Given the description of an element on the screen output the (x, y) to click on. 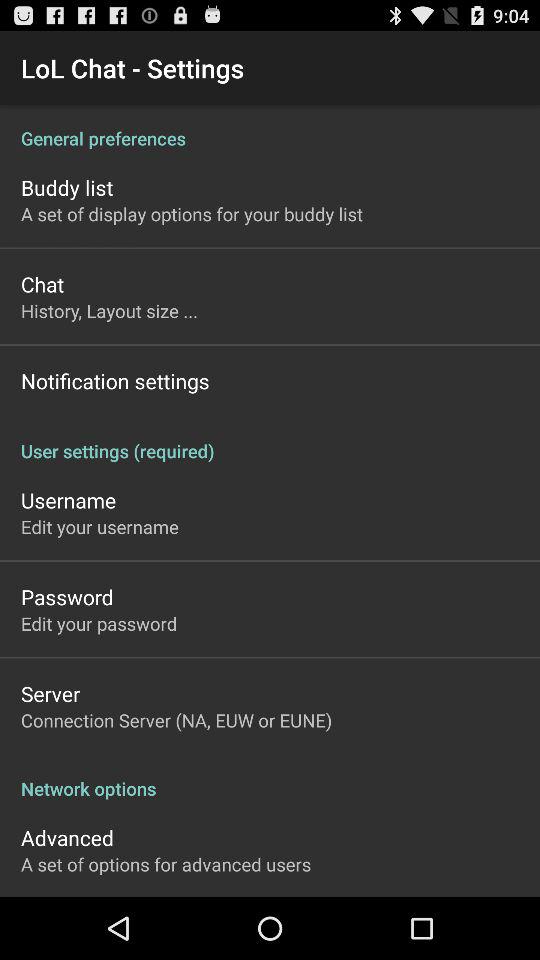
turn off icon below the history, layout size ... app (115, 380)
